Given the description of an element on the screen output the (x, y) to click on. 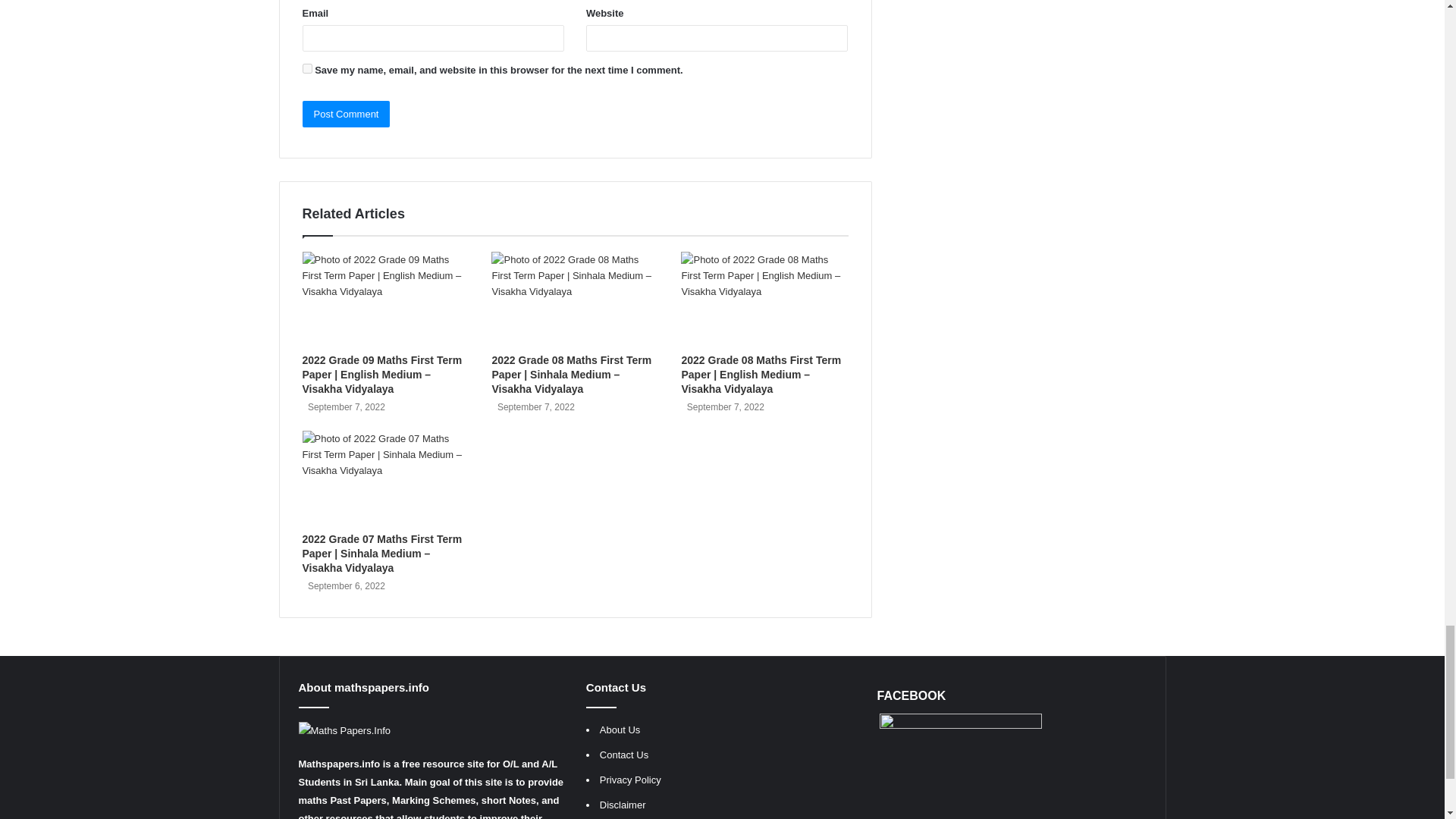
yes (306, 68)
Post Comment (345, 113)
